Given the description of an element on the screen output the (x, y) to click on. 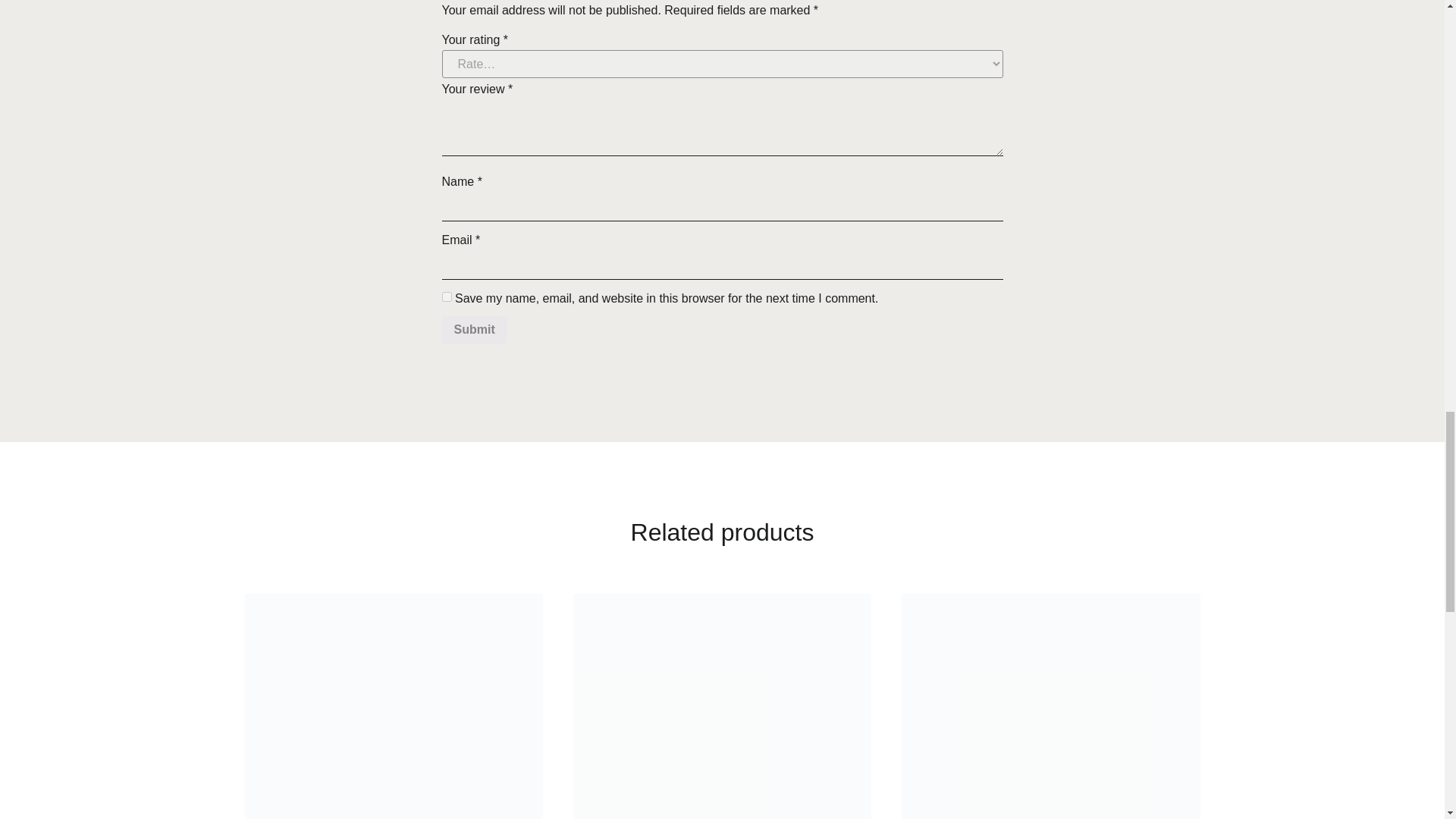
Submit (473, 329)
Submit (473, 329)
yes (446, 296)
